Given the description of an element on the screen output the (x, y) to click on. 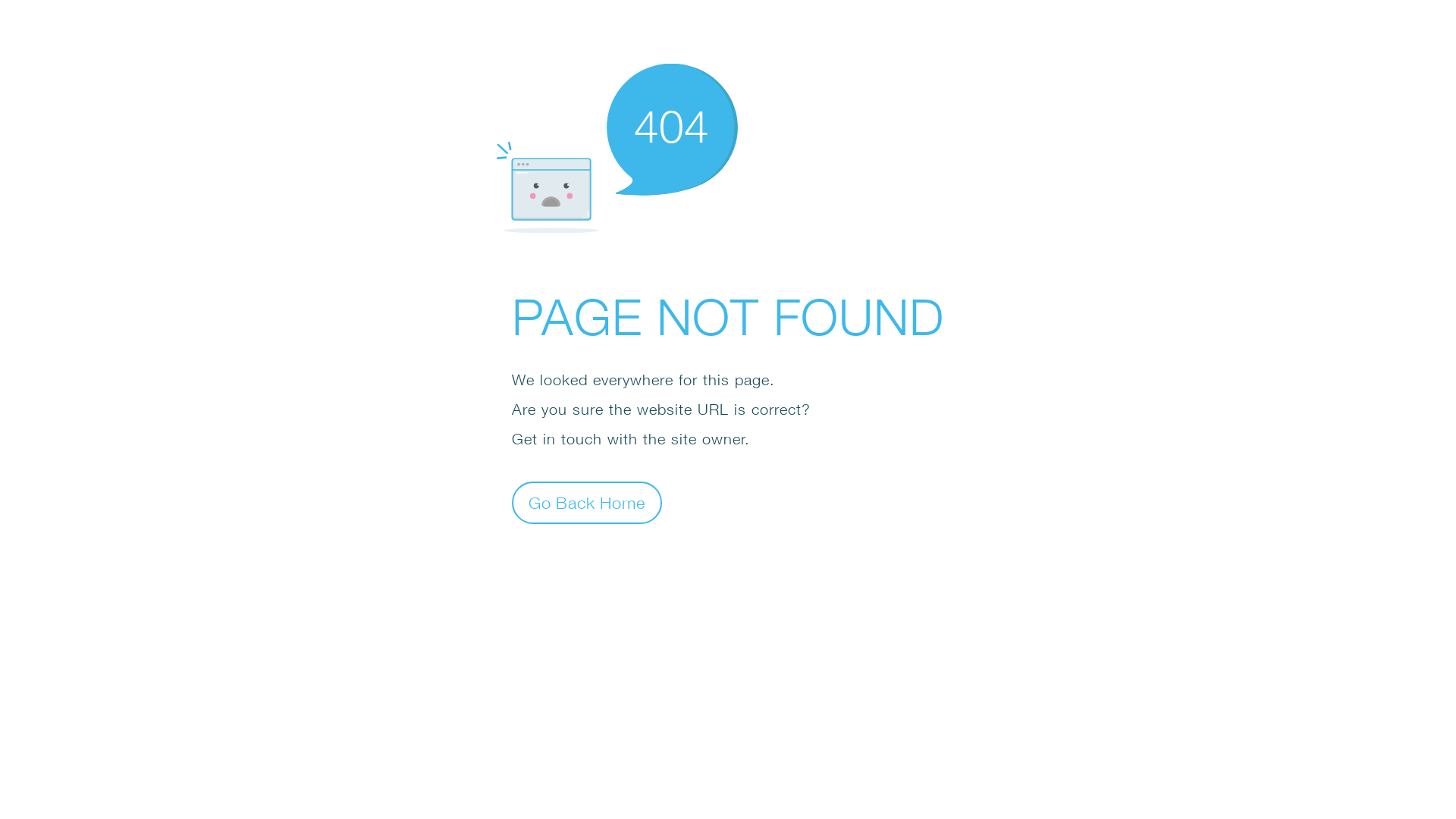
Go Back Home Element type: text (586, 502)
